Given the description of an element on the screen output the (x, y) to click on. 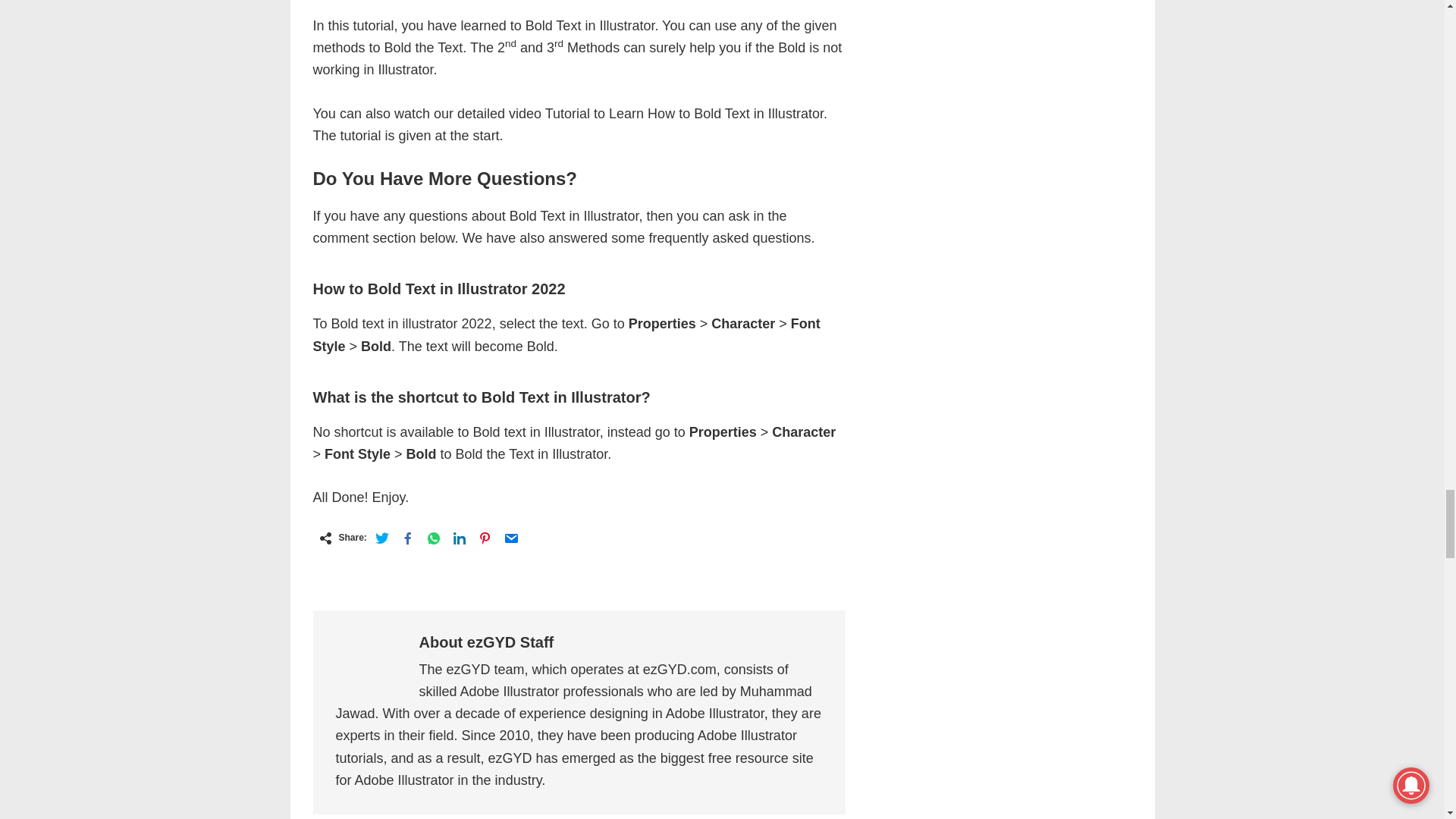
Share by Email (510, 538)
